Given the description of an element on the screen output the (x, y) to click on. 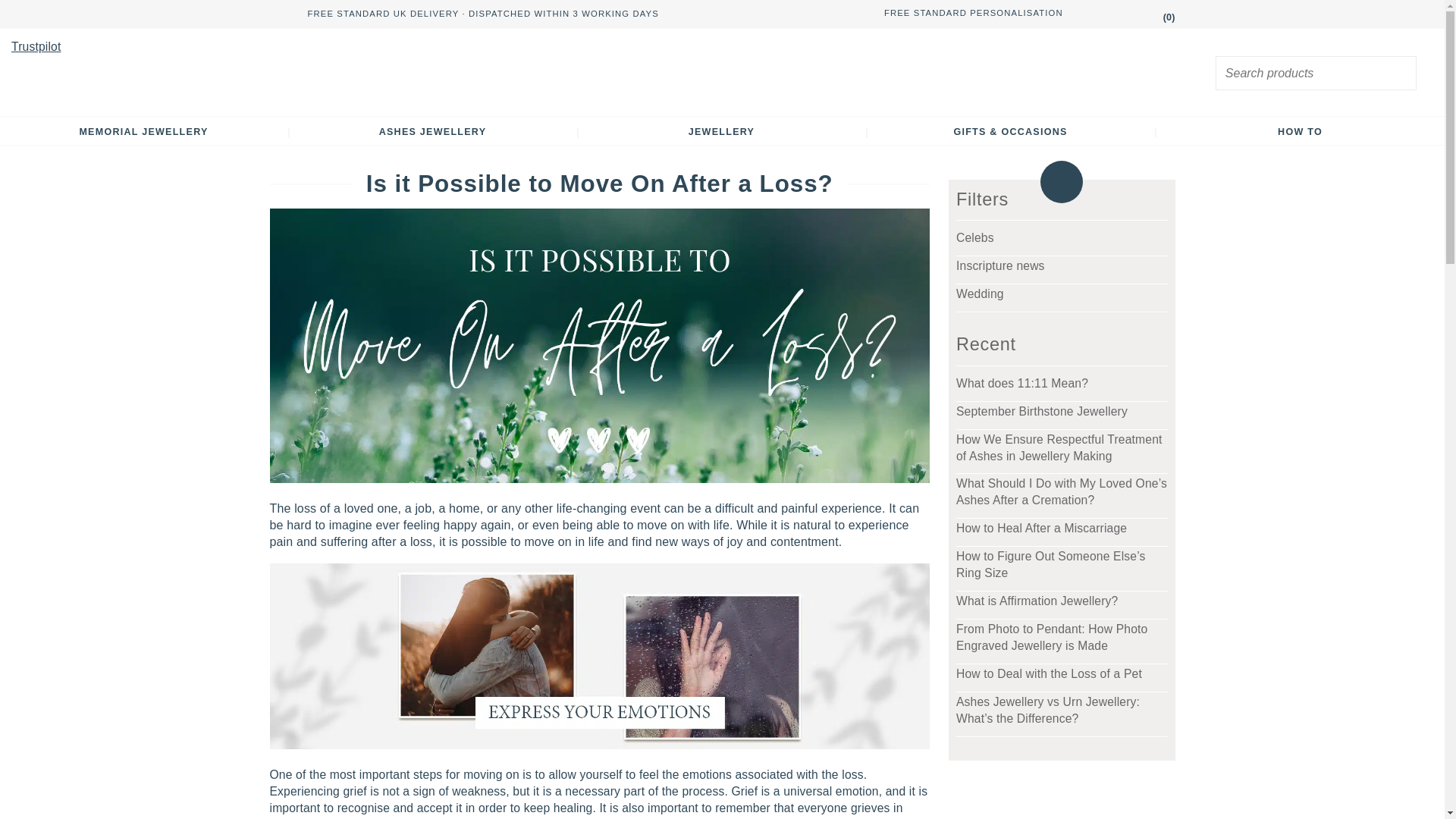
MEMORIAL JEWELLERY (143, 131)
SEARCH (1403, 73)
Trustpilot (36, 46)
ASHES JEWELLERY (432, 131)
Inscripture (721, 72)
